Given the description of an element on the screen output the (x, y) to click on. 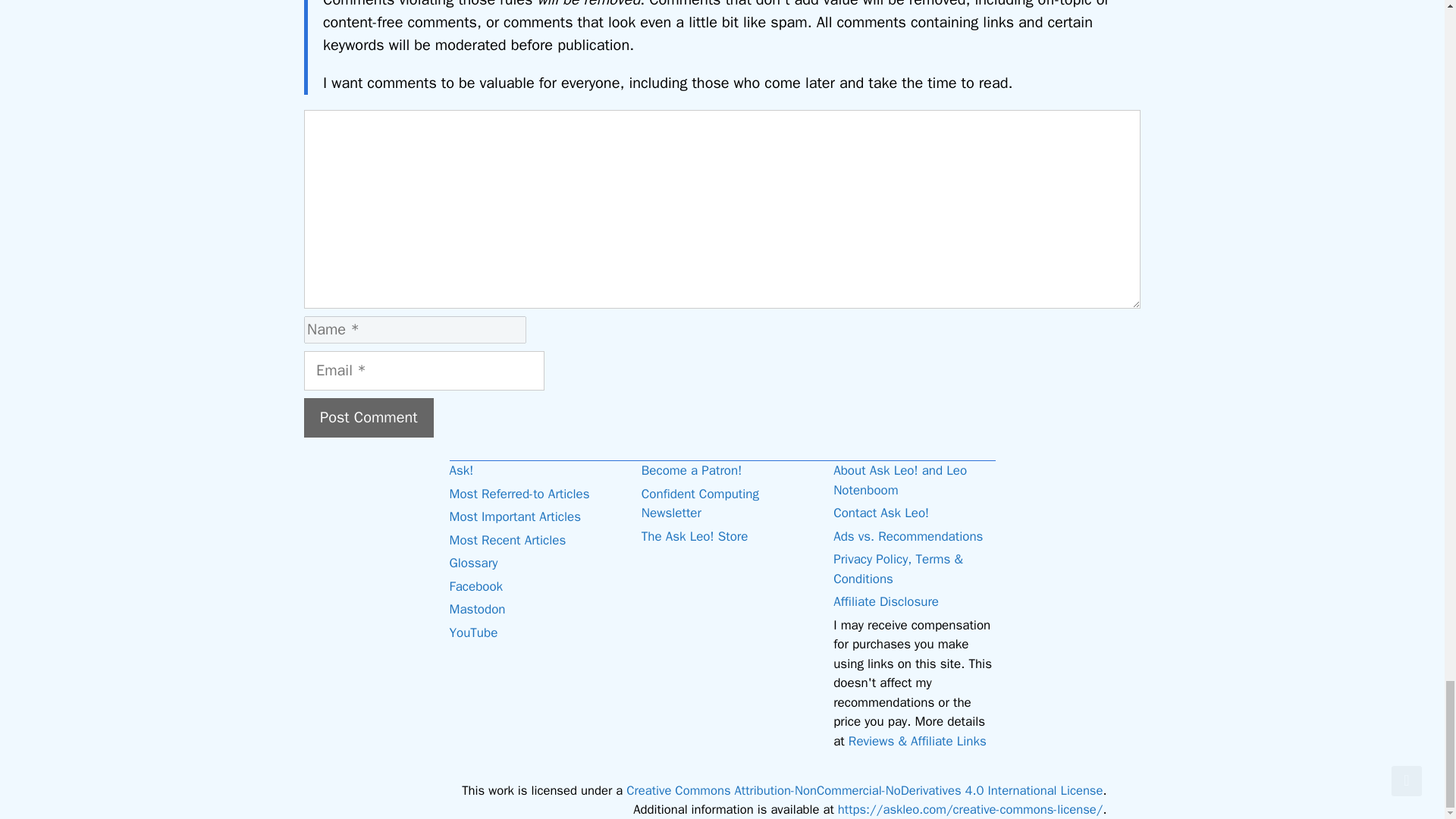
Post Comment (368, 417)
